Given the description of an element on the screen output the (x, y) to click on. 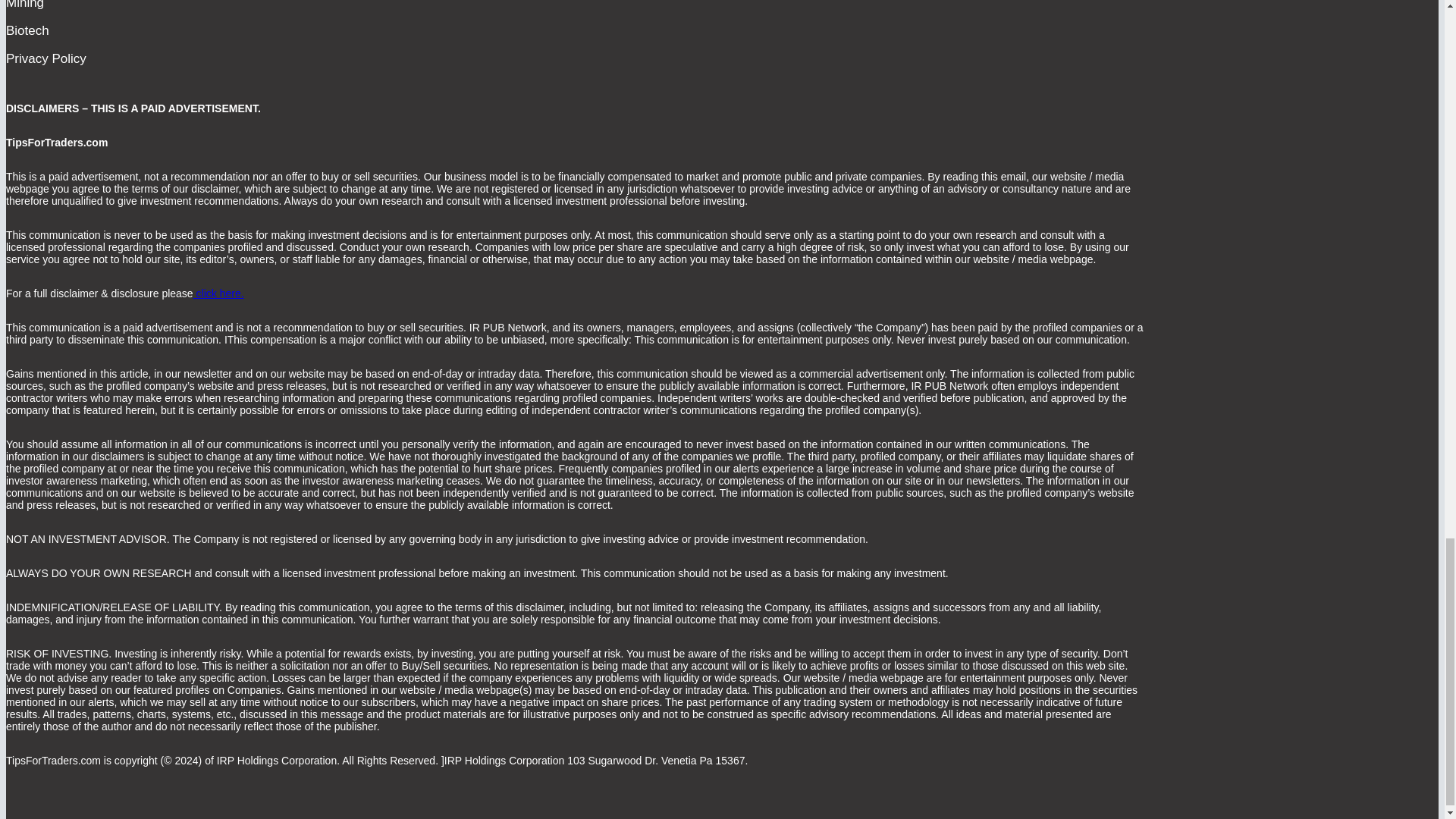
Biotech (27, 30)
Mining (24, 5)
Privacy Policy (45, 58)
click here. (218, 293)
